Given the description of an element on the screen output the (x, y) to click on. 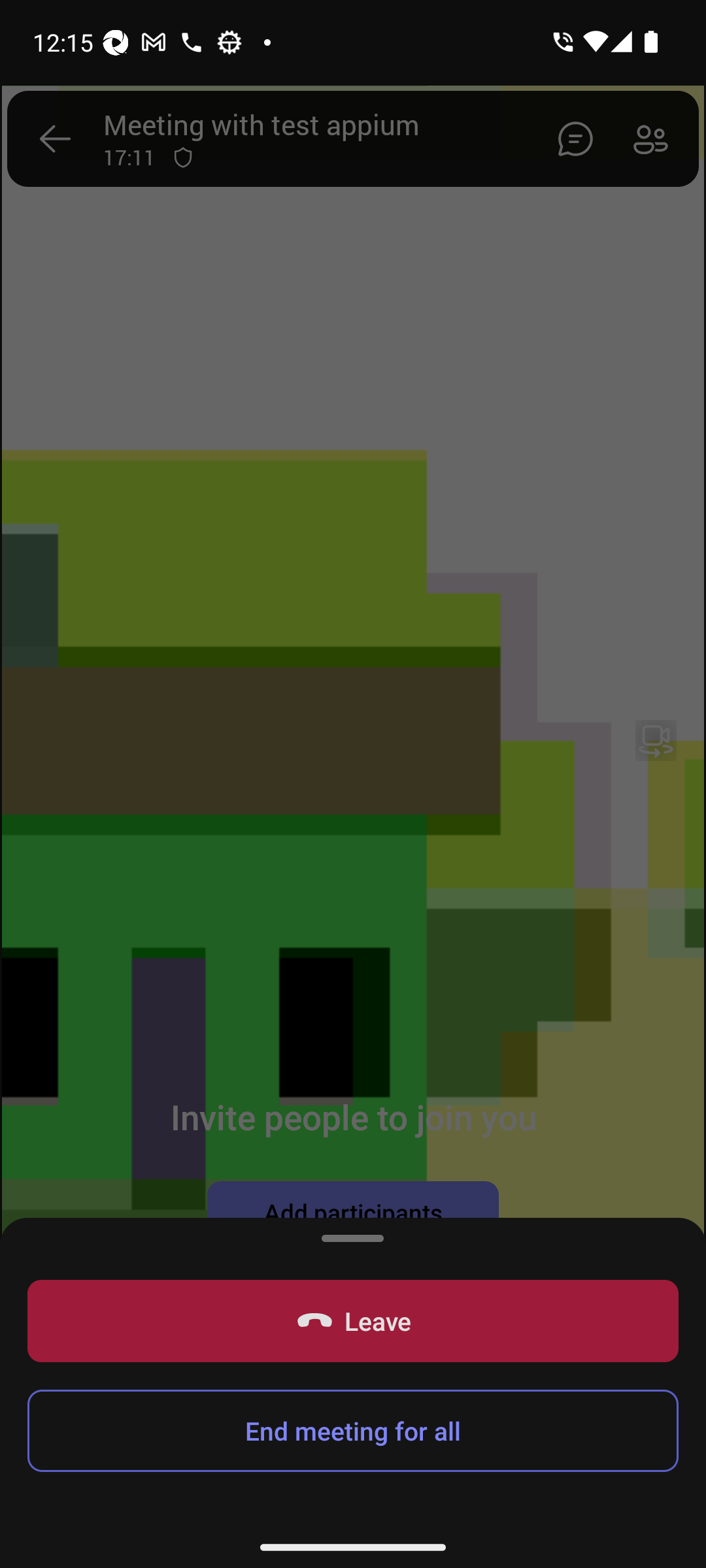
Leave (352, 1320)
End meeting for all (352, 1430)
